Given the description of an element on the screen output the (x, y) to click on. 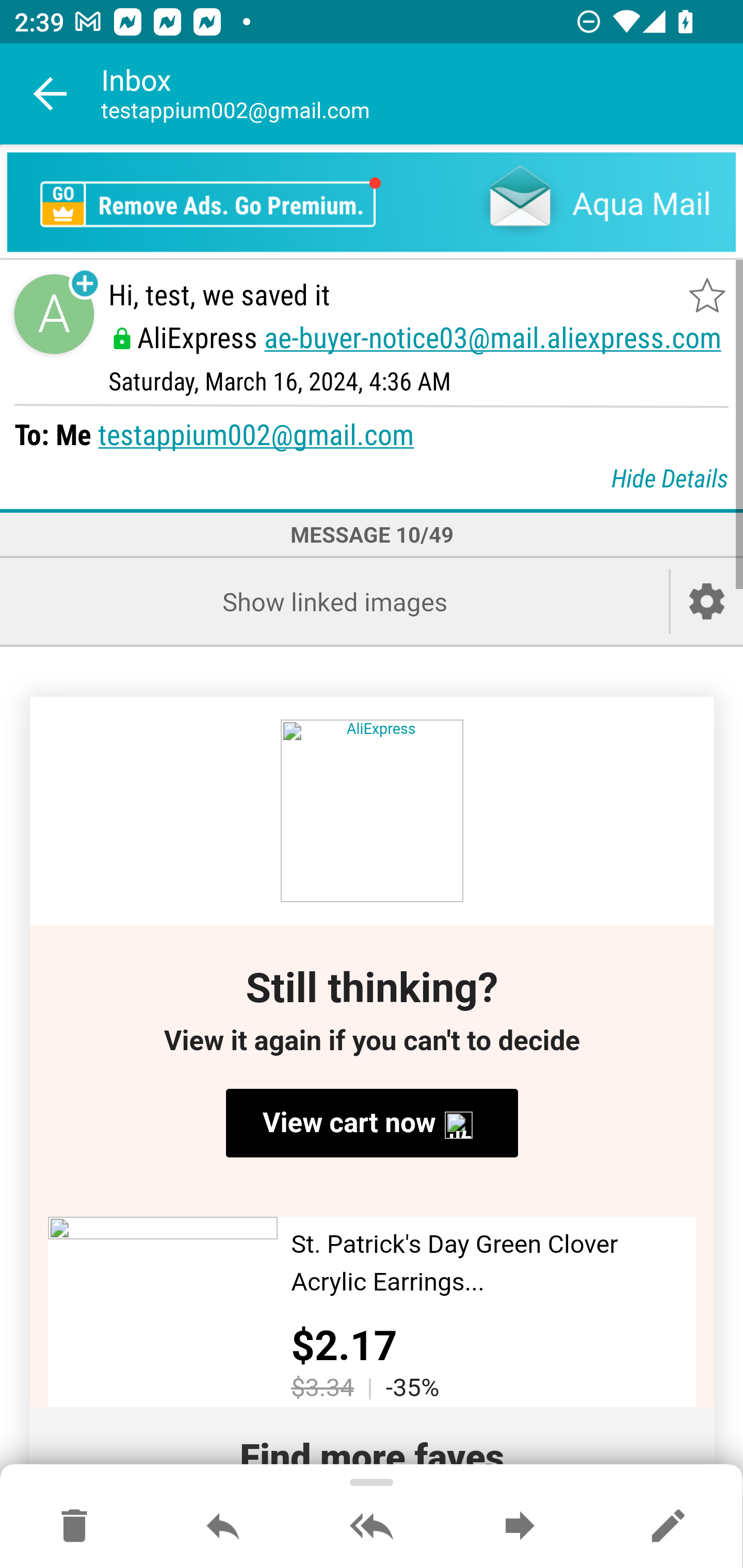
Navigate up (50, 93)
Inbox testappium002@gmail.com (422, 93)
Sender contact button (53, 314)
Show linked images (334, 601)
Account setup (706, 601)
AliExpress (371, 810)
View cart now 收藏 View cart now 收藏 (371, 1123)
Move to Deleted (74, 1527)
Reply (222, 1527)
Reply all (371, 1527)
Forward (519, 1527)
Reply as new (667, 1527)
